Given the description of an element on the screen output the (x, y) to click on. 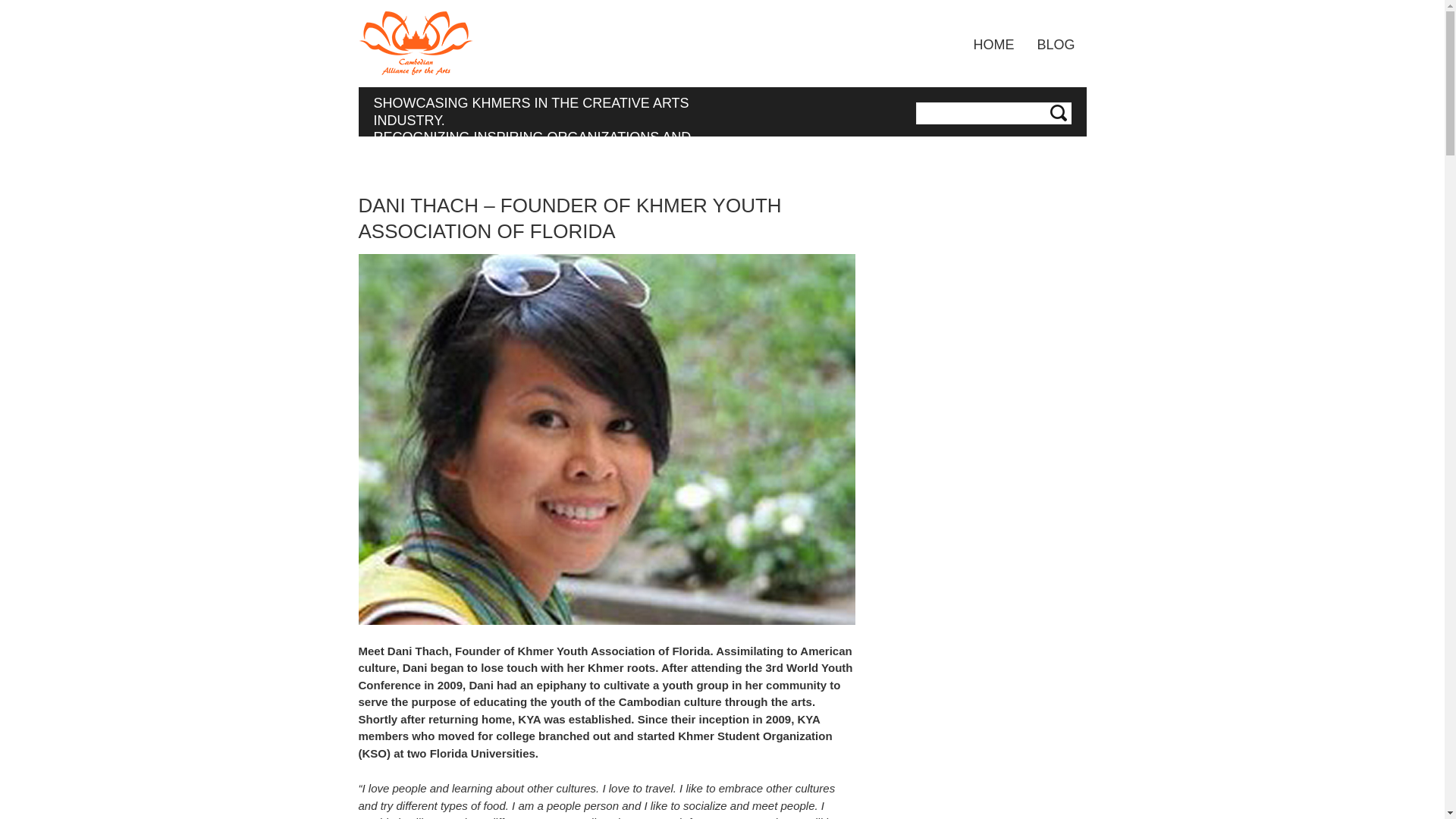
Cambodian Alliance for the Arts (414, 43)
BLOG (1055, 44)
HOME (992, 44)
